Given the description of an element on the screen output the (x, y) to click on. 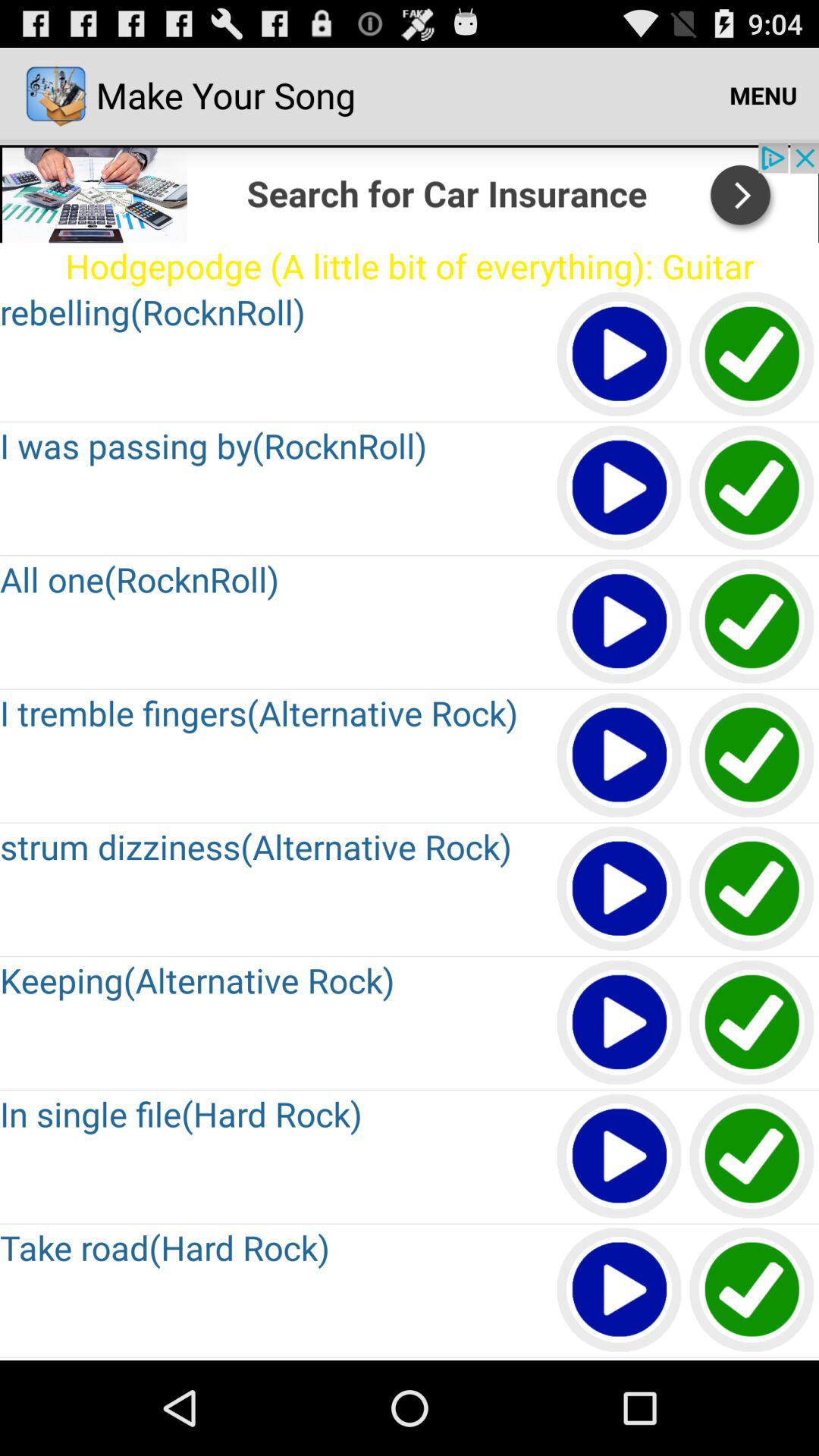
go to play (619, 755)
